Given the description of an element on the screen output the (x, y) to click on. 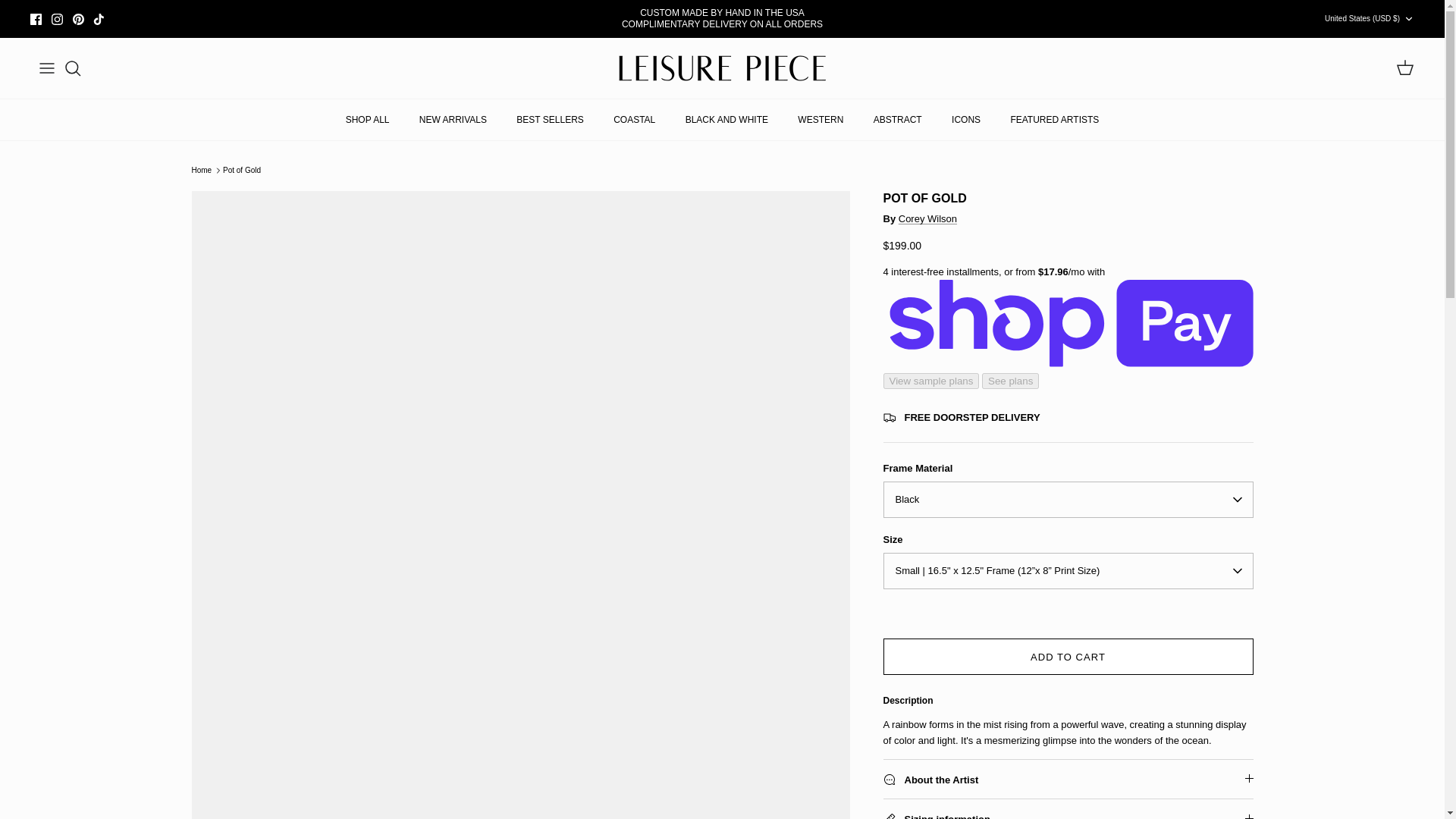
Facebook (36, 19)
Instagram (56, 19)
Pinterest (78, 19)
LEISURE PIECE LLC (721, 68)
Search (72, 67)
Instagram (56, 19)
Down (1408, 18)
Facebook (36, 19)
Pinterest (78, 19)
